Given the description of an element on the screen output the (x, y) to click on. 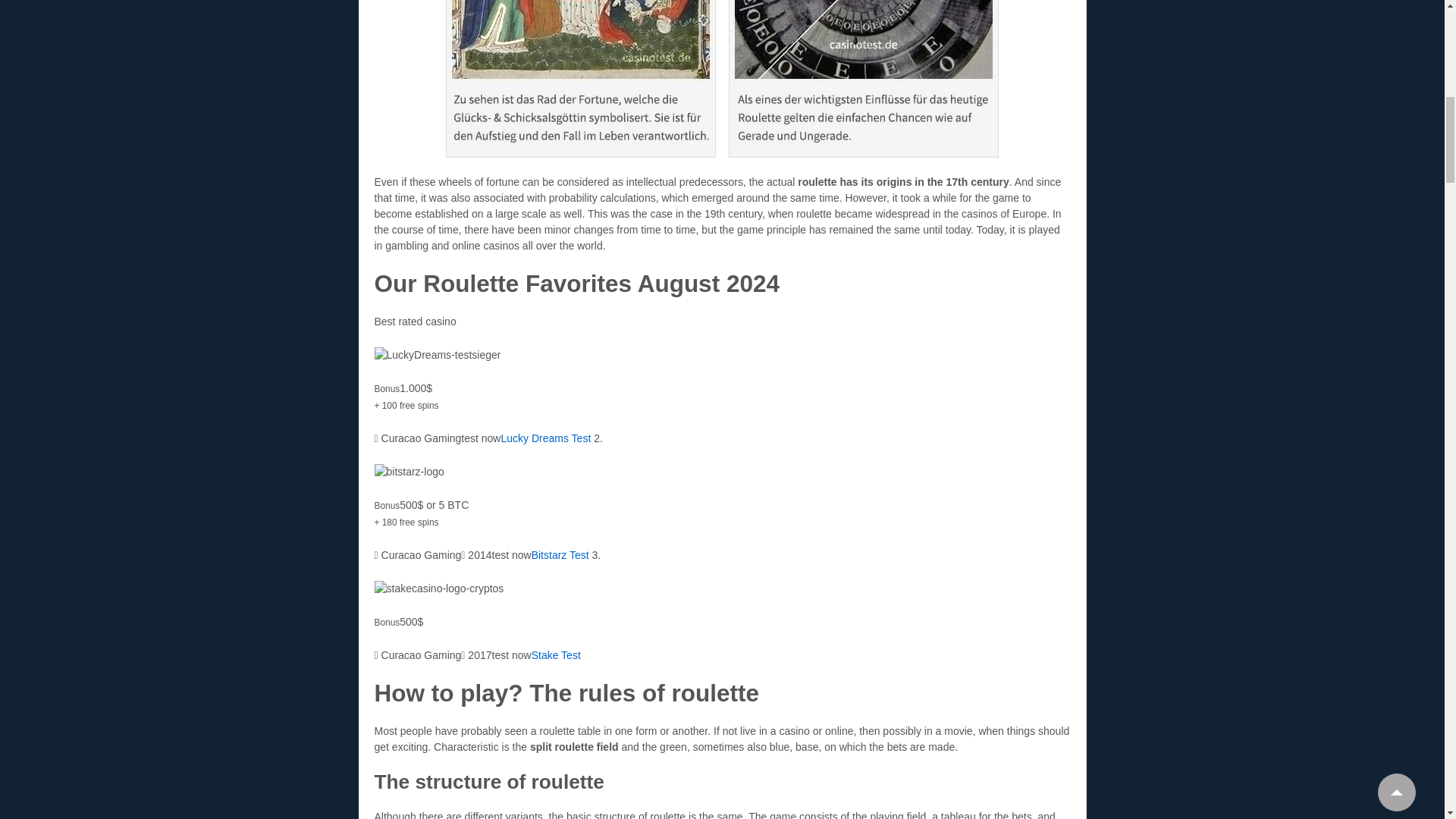
Bitstarz Test (560, 554)
Stake Test (555, 654)
Lucky Dreams Test (545, 438)
